Given the description of an element on the screen output the (x, y) to click on. 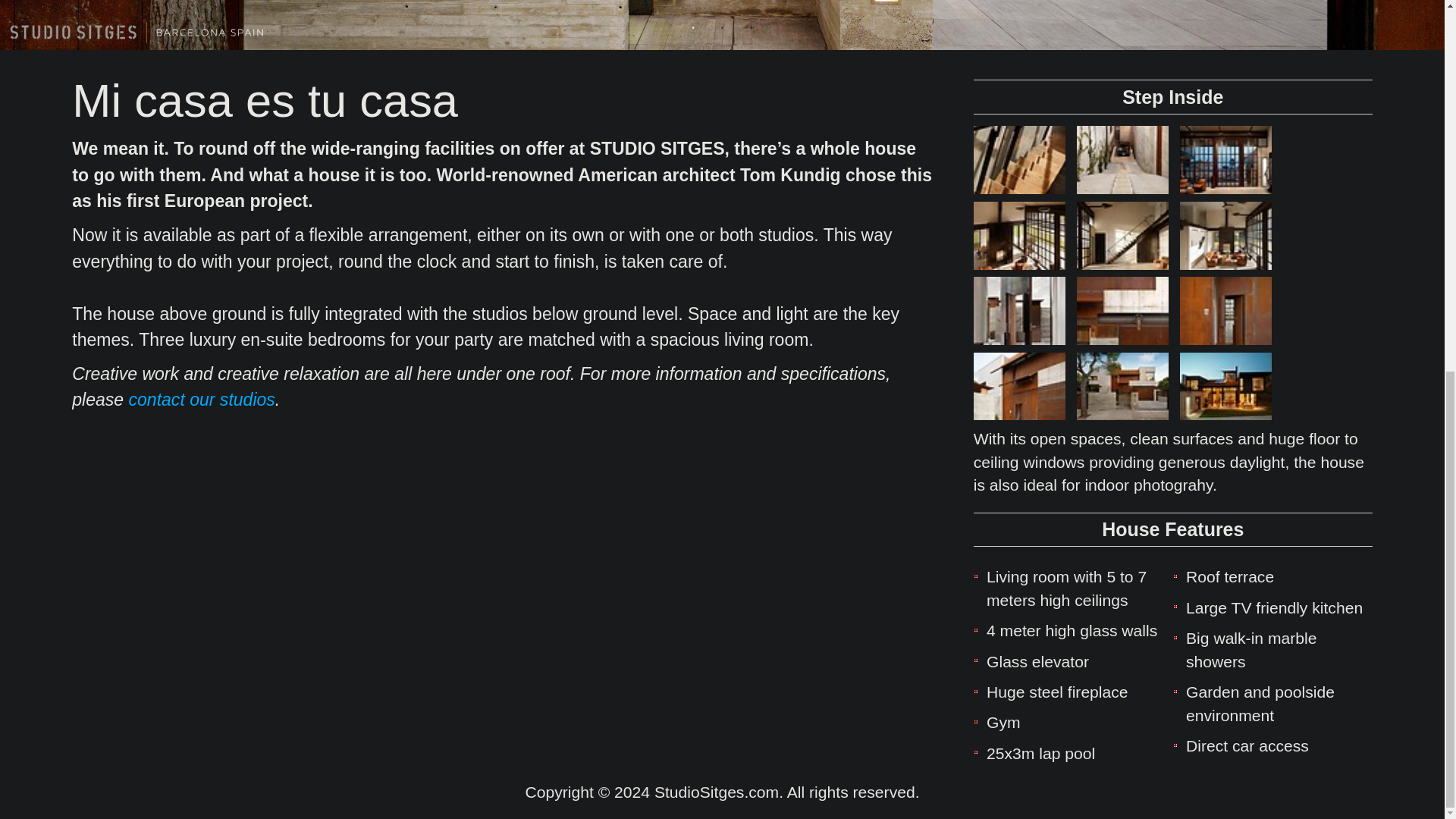
contact our studios (202, 399)
1 (692, 27)
2 (721, 27)
3 (750, 27)
